Given the description of an element on the screen output the (x, y) to click on. 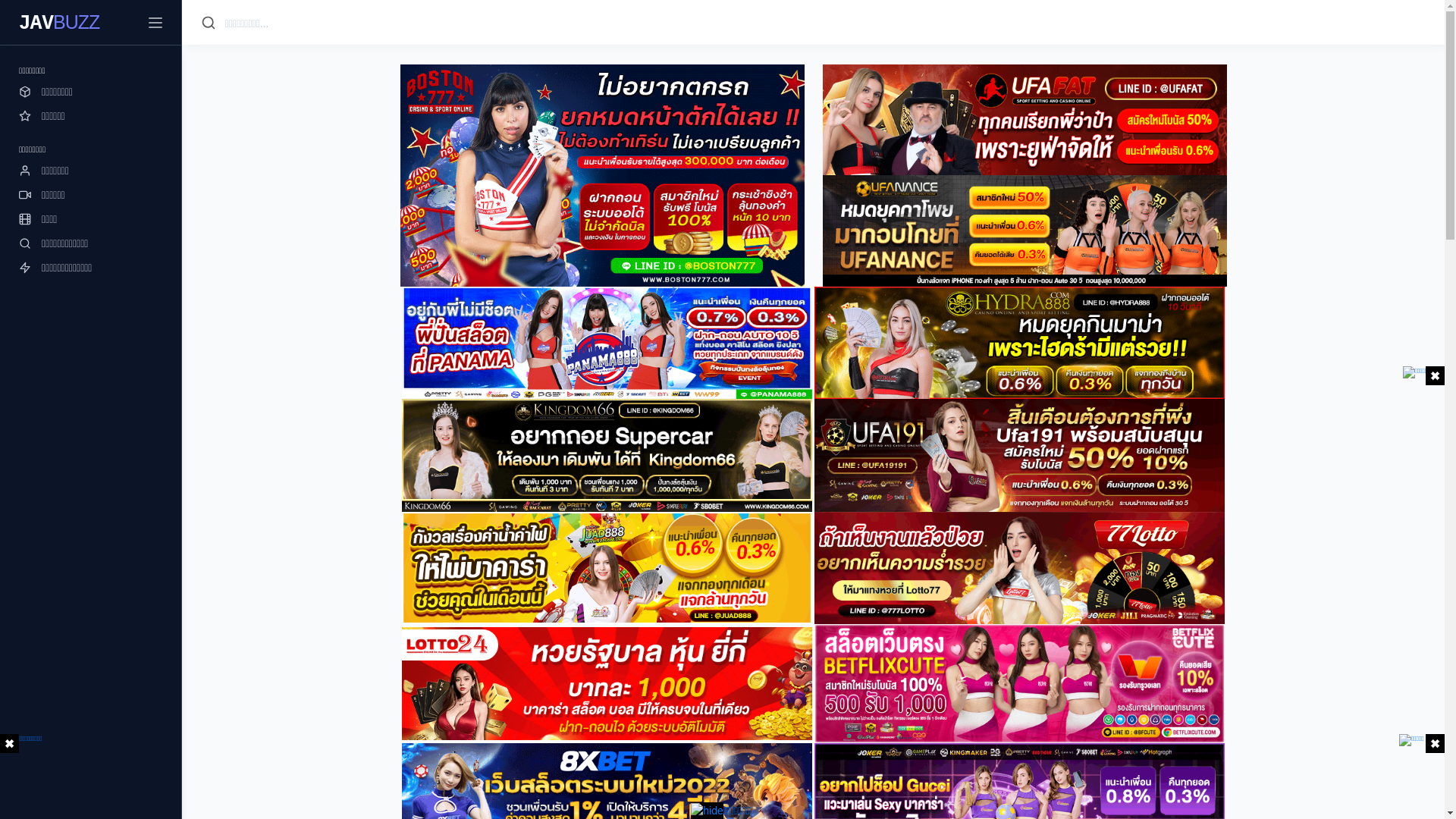
JAVBUZZ Element type: text (58, 22)
